Given the description of an element on the screen output the (x, y) to click on. 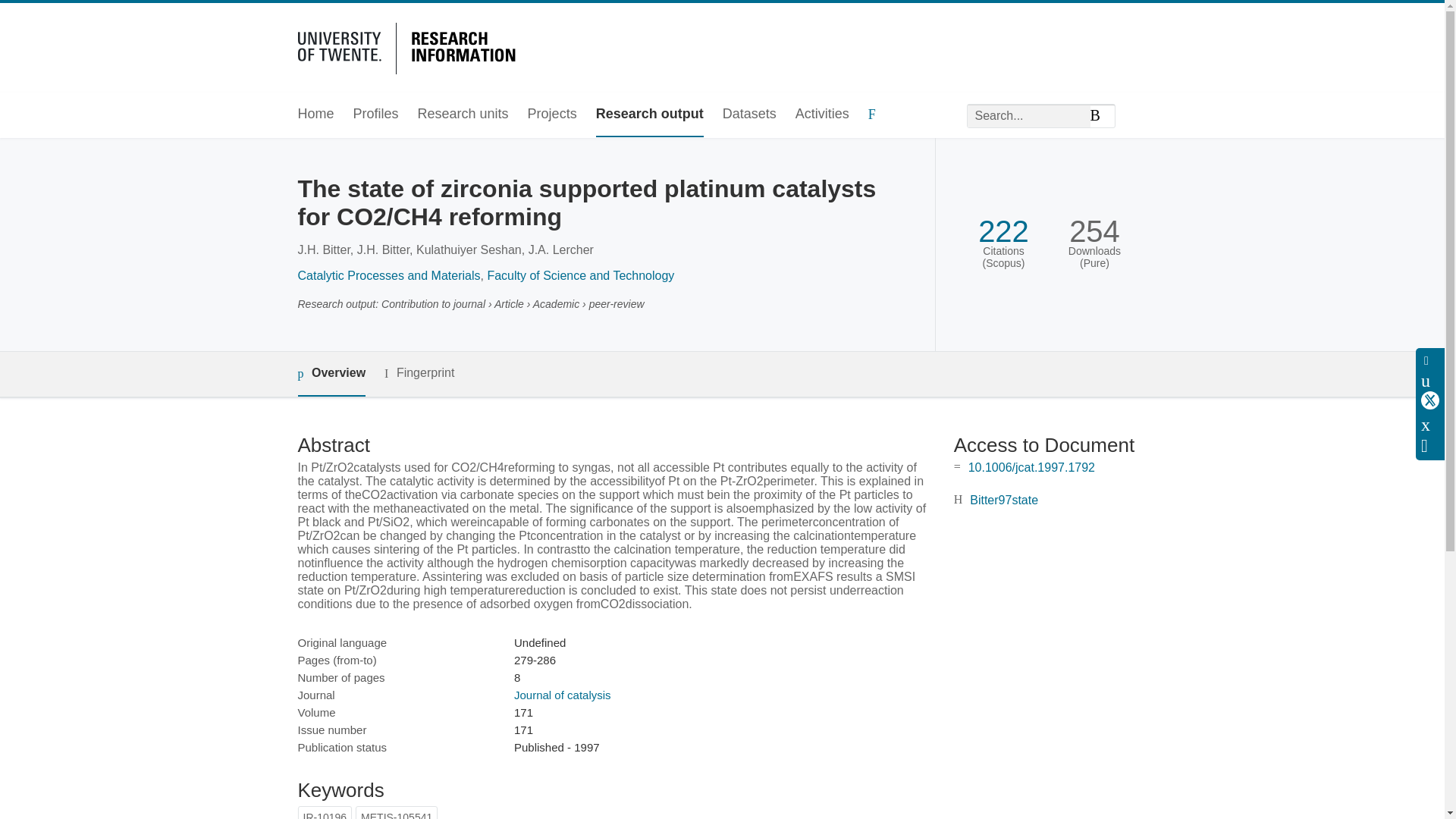
Journal of catalysis (562, 694)
Datasets (749, 114)
Fingerprint (419, 373)
Overview (331, 374)
Research units (462, 114)
Bitter97state (1003, 499)
Research output (649, 114)
University of Twente Research Information Home (409, 45)
Activities (821, 114)
Catalytic Processes and Materials (388, 275)
Projects (551, 114)
Profiles (375, 114)
Faculty of Science and Technology (580, 275)
222 (1003, 231)
